Given the description of an element on the screen output the (x, y) to click on. 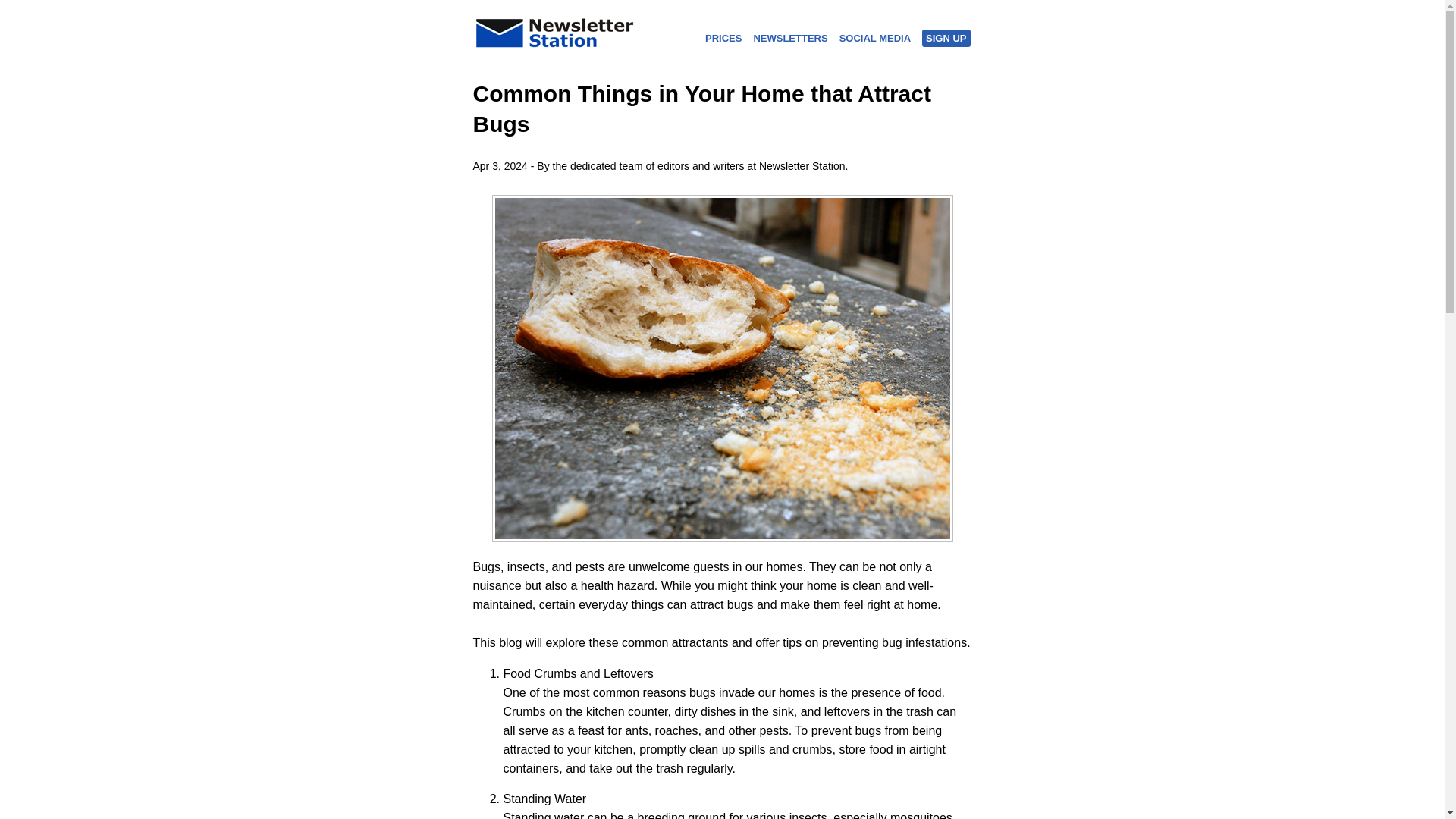
NEWSLETTERS (789, 38)
SOCIAL MEDIA (875, 38)
SIGN UP (946, 38)
PRICES (722, 38)
